Given the description of an element on the screen output the (x, y) to click on. 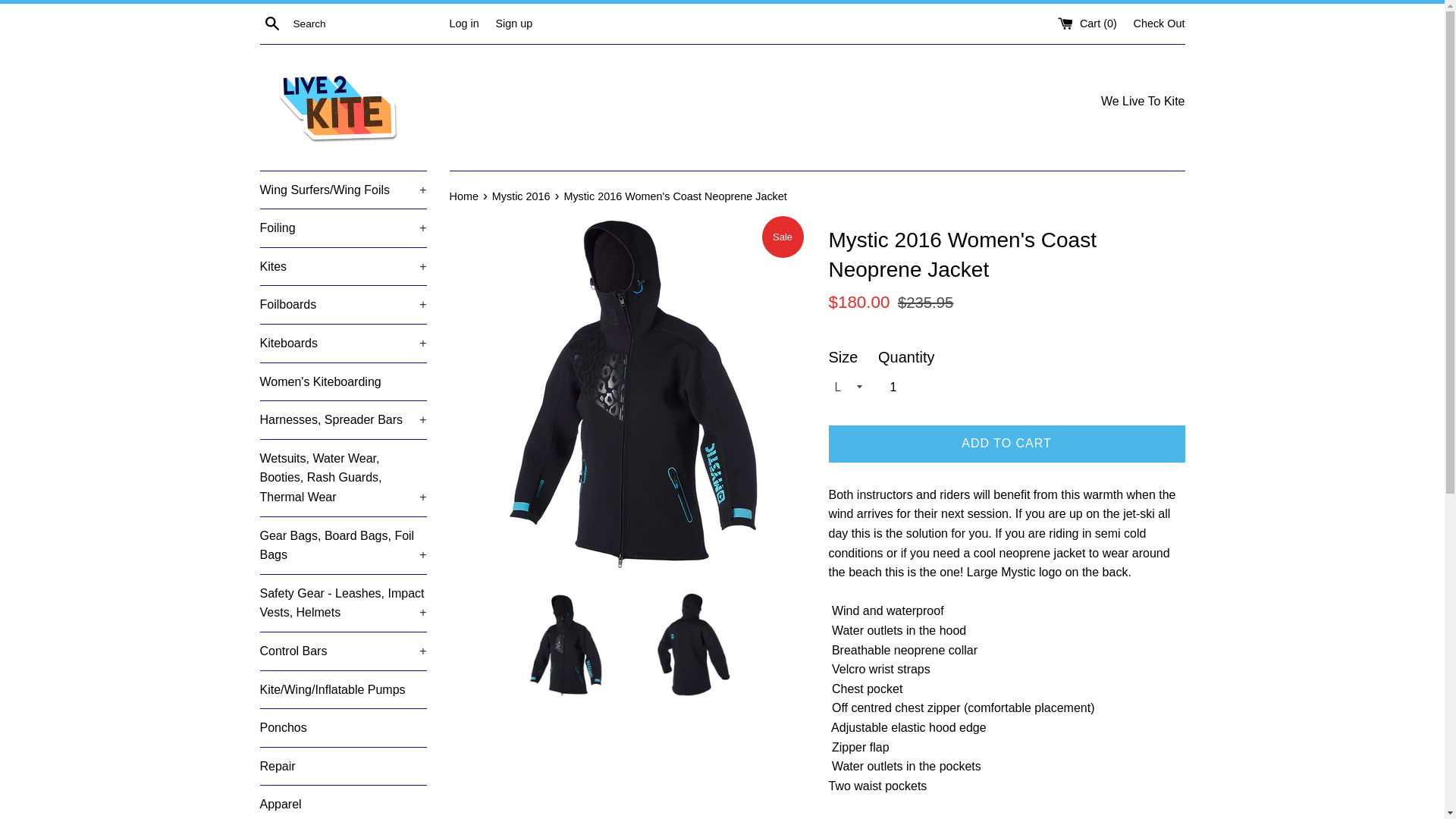
Log in (463, 22)
Sign up (513, 22)
1 (898, 387)
Back to the frontpage (464, 196)
Search (271, 22)
Check Out (1159, 22)
